Given the description of an element on the screen output the (x, y) to click on. 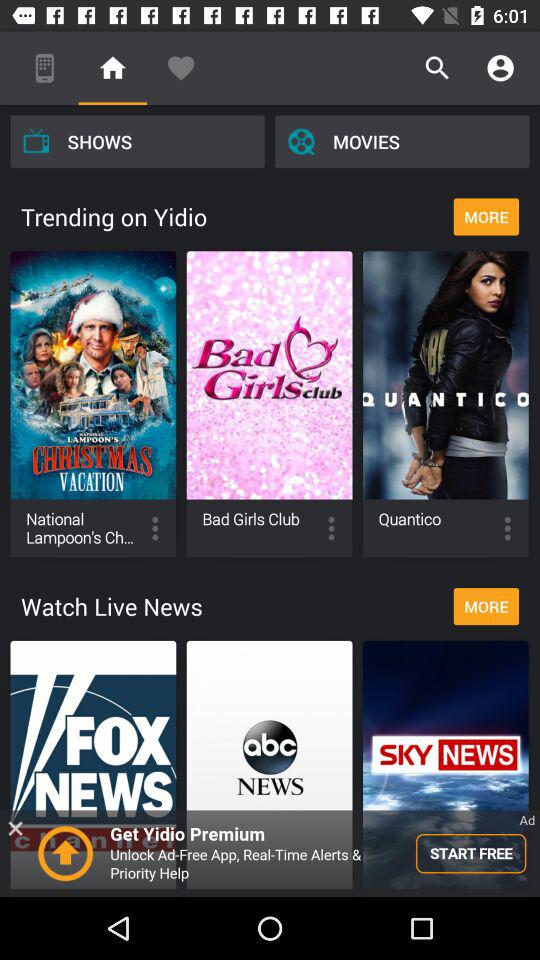
turn off icon next to movies icon (137, 141)
